Given the description of an element on the screen output the (x, y) to click on. 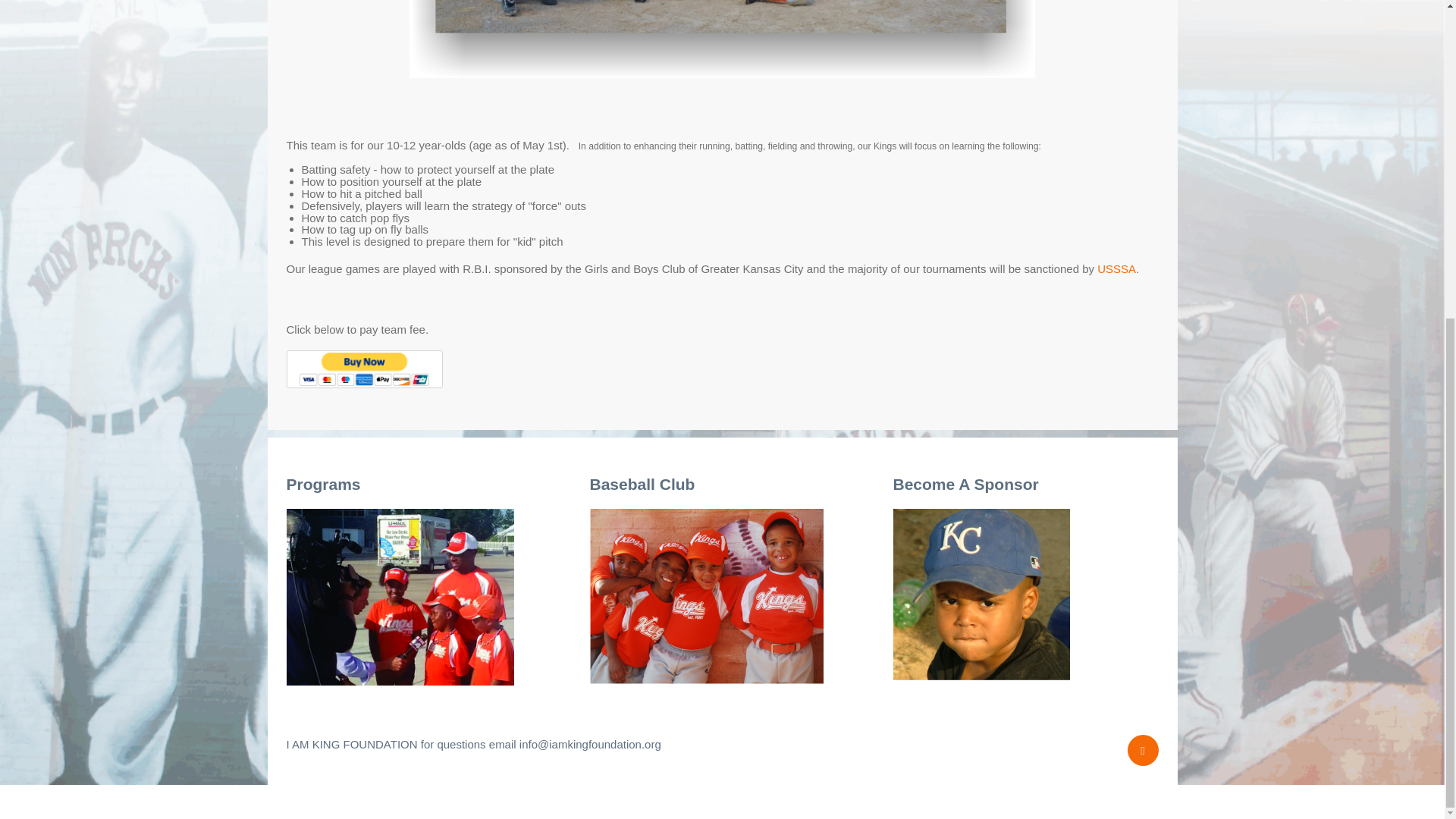
Baseball Club (706, 594)
Leadership Academy (399, 594)
